Given the description of an element on the screen output the (x, y) to click on. 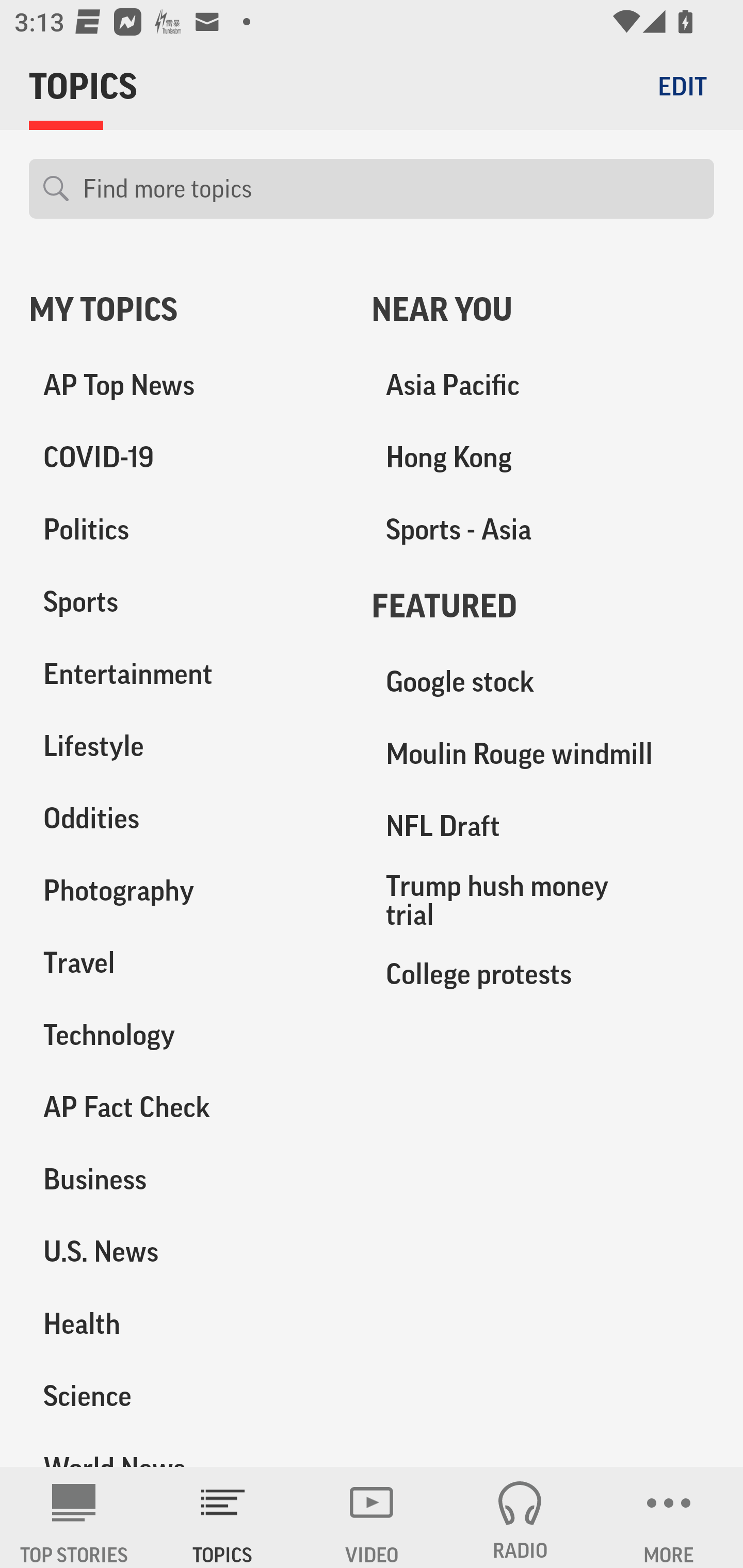
EDIT (682, 86)
Find more topics (391, 188)
AP Top News (185, 385)
Asia Pacific (542, 385)
COVID-19 (185, 457)
Hong Kong (542, 457)
Politics (185, 529)
Sports - Asia (542, 529)
Sports (185, 602)
Entertainment (185, 674)
Google stock (542, 682)
Lifestyle (185, 746)
Moulin Rouge windmill (542, 754)
Oddities (185, 818)
NFL Draft (542, 826)
Photography (185, 890)
Trump hush money trial (542, 899)
Travel (185, 962)
College protests (542, 973)
Technology (185, 1034)
AP Fact Check (185, 1106)
Business (185, 1179)
U.S. News (185, 1251)
Health (185, 1323)
Science (185, 1395)
AP News TOP STORIES (74, 1517)
TOPICS (222, 1517)
VIDEO (371, 1517)
RADIO (519, 1517)
MORE (668, 1517)
